Given the description of an element on the screen output the (x, y) to click on. 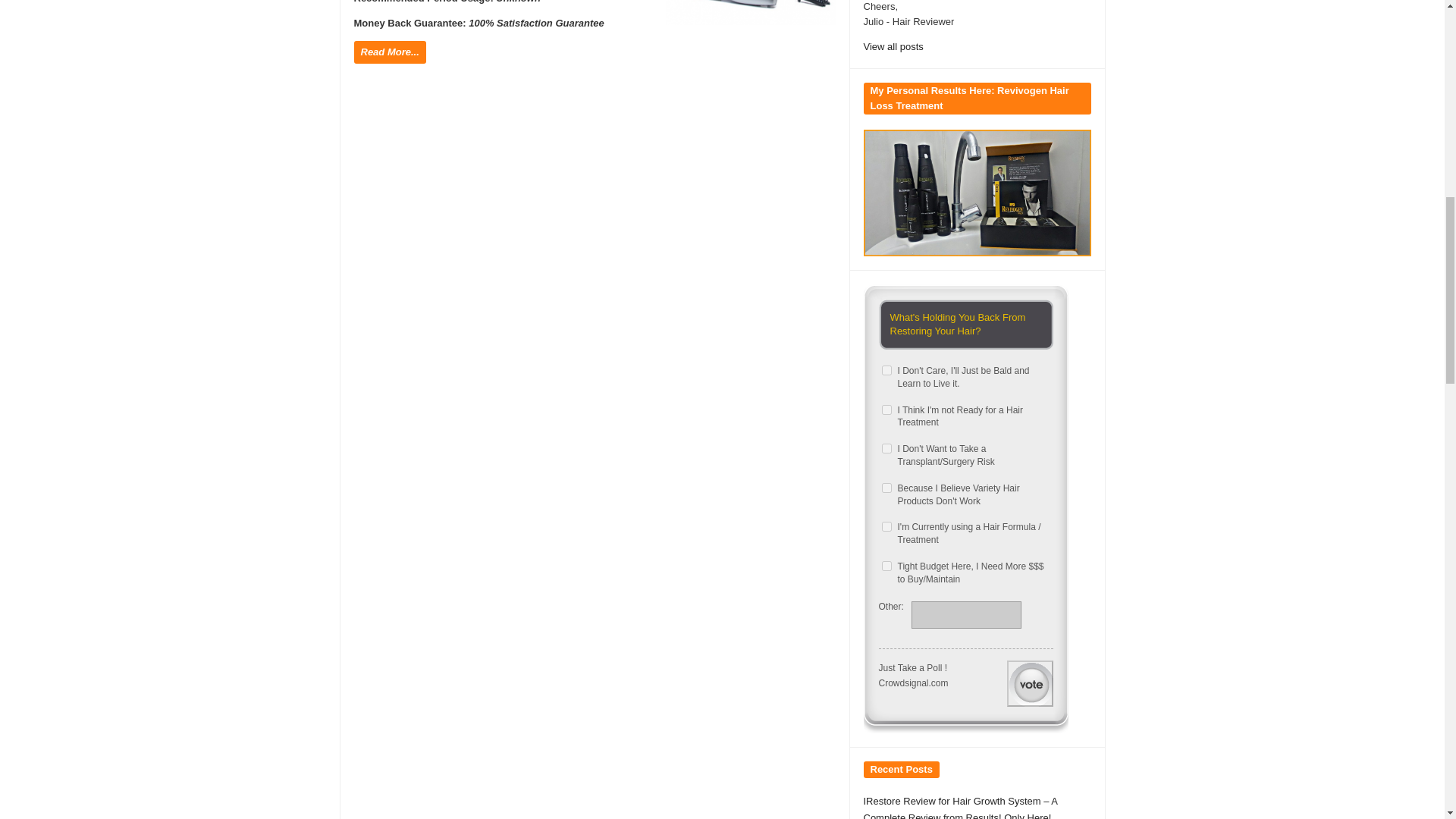
43759912 (885, 488)
43759915 (885, 409)
43759913 (885, 565)
44211844 (885, 526)
43759911 (885, 448)
43759914 (885, 370)
